Given the description of an element on the screen output the (x, y) to click on. 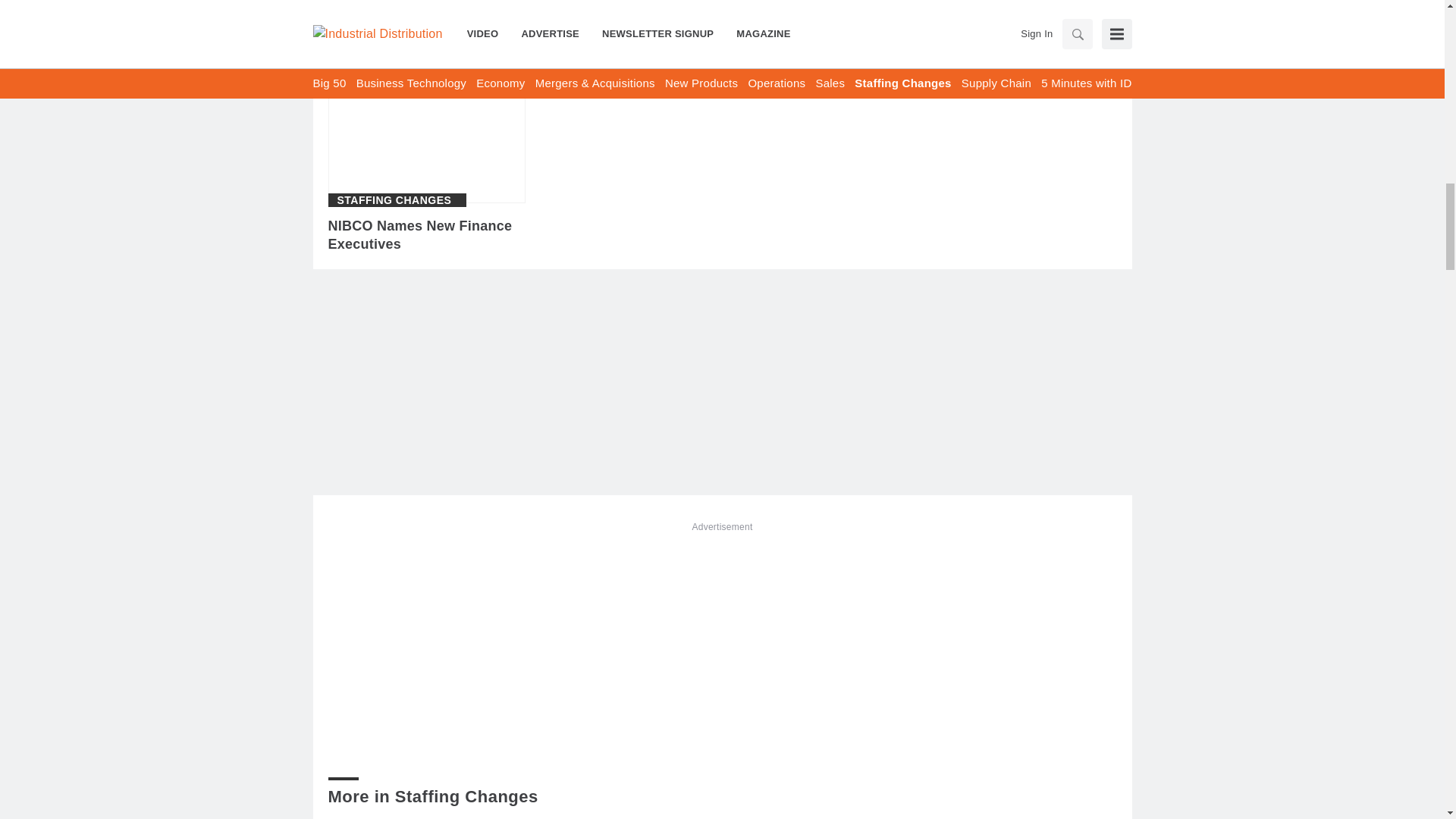
Staffing Changes (393, 199)
Staffing Changes (393, 2)
